Given the description of an element on the screen output the (x, y) to click on. 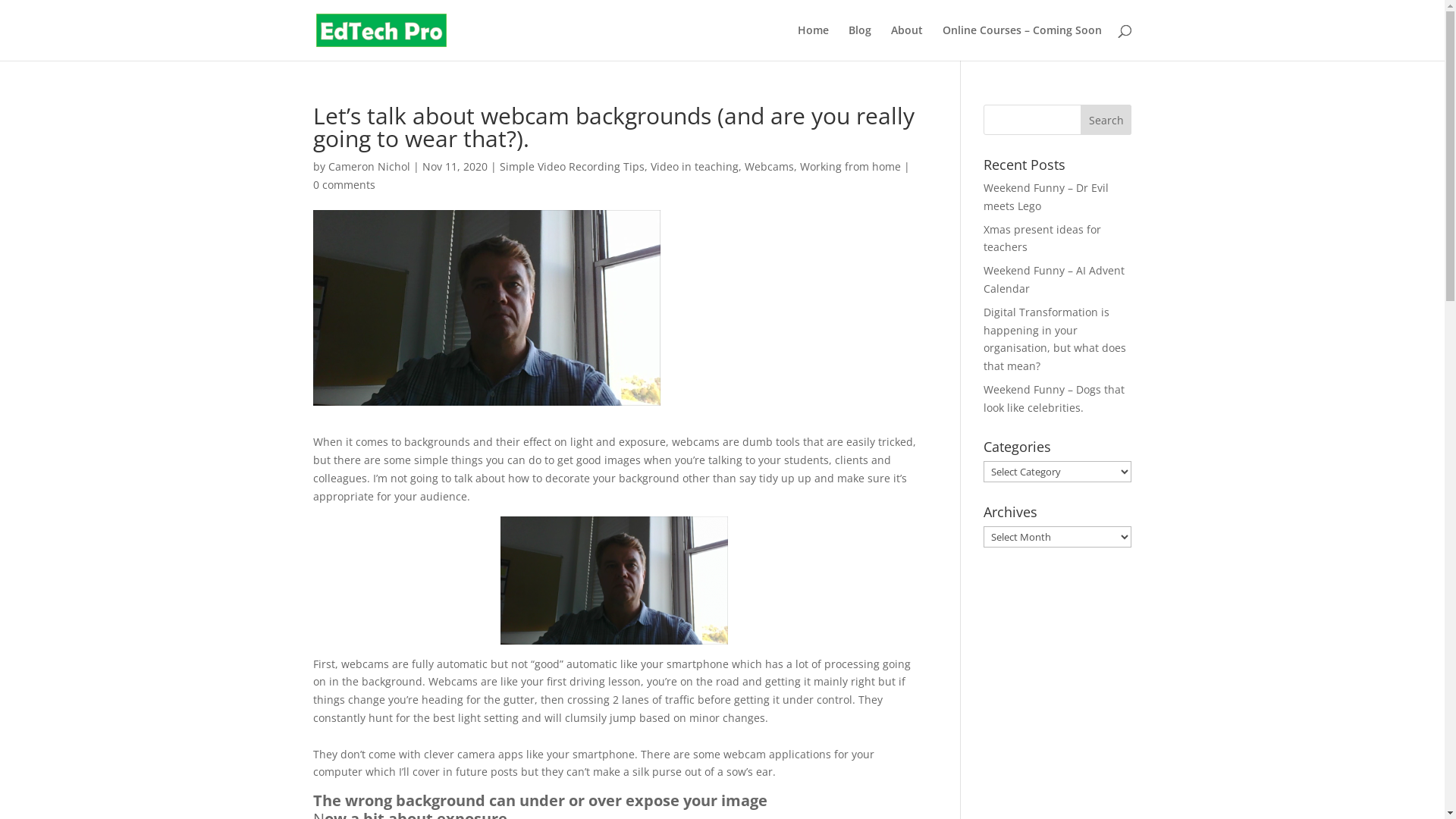
Cameron Nichol Element type: text (368, 166)
About Element type: text (906, 42)
Xmas present ideas for teachers Element type: text (1042, 238)
Webcams Element type: text (768, 166)
Search Element type: text (1106, 119)
Blog Element type: text (858, 42)
Simple Video Recording Tips Element type: text (570, 166)
0 comments Element type: text (343, 184)
Home Element type: text (812, 42)
Video in teaching Element type: text (694, 166)
Working from home Element type: text (849, 166)
